Given the description of an element on the screen output the (x, y) to click on. 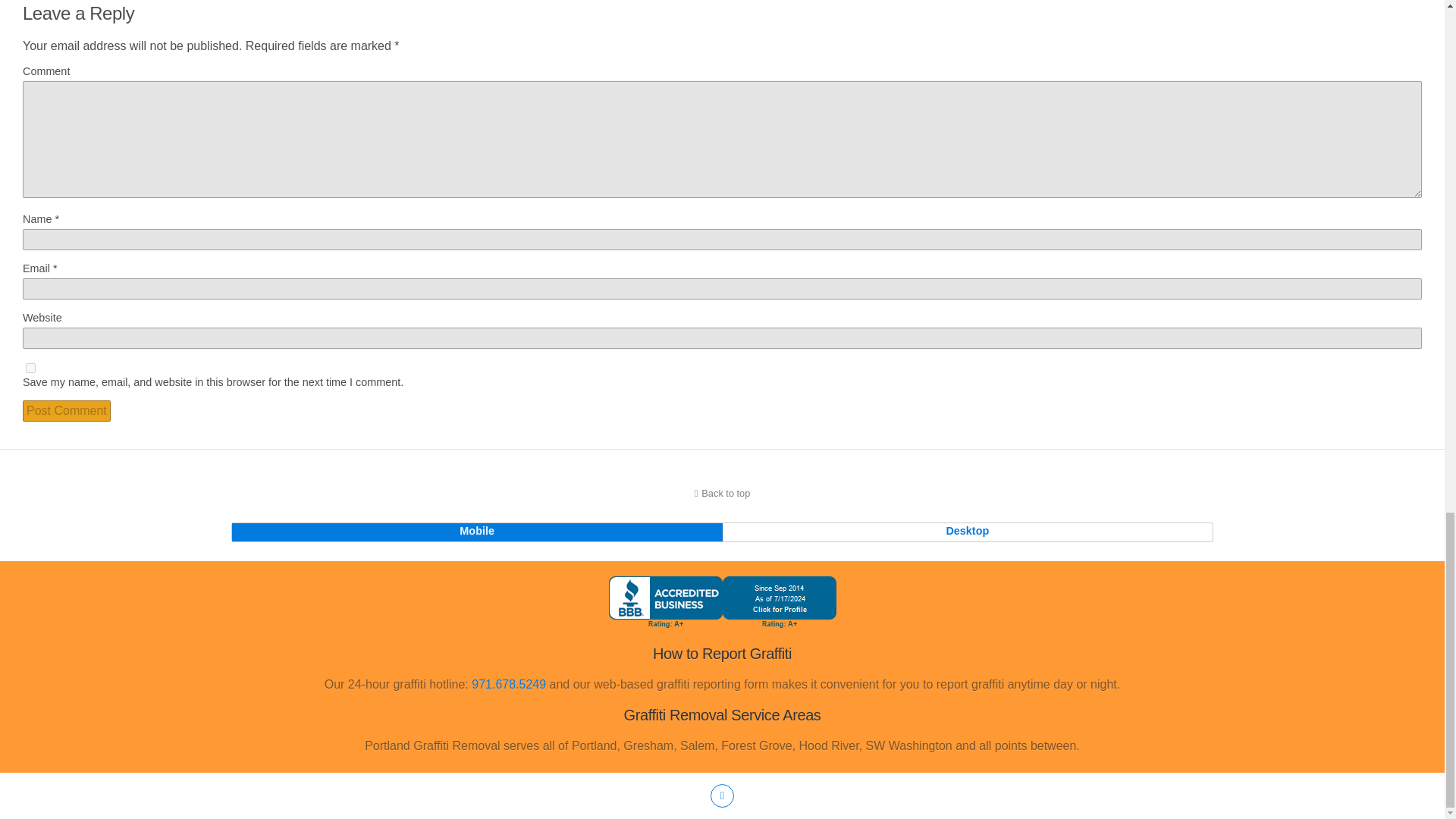
Post Comment (66, 410)
Post Comment (66, 410)
Facebook (721, 795)
yes (30, 368)
Portland Graffiti Removal LLC, Graffiti Removal, Gresham, OR (721, 624)
Desktop (967, 532)
